Given the description of an element on the screen output the (x, y) to click on. 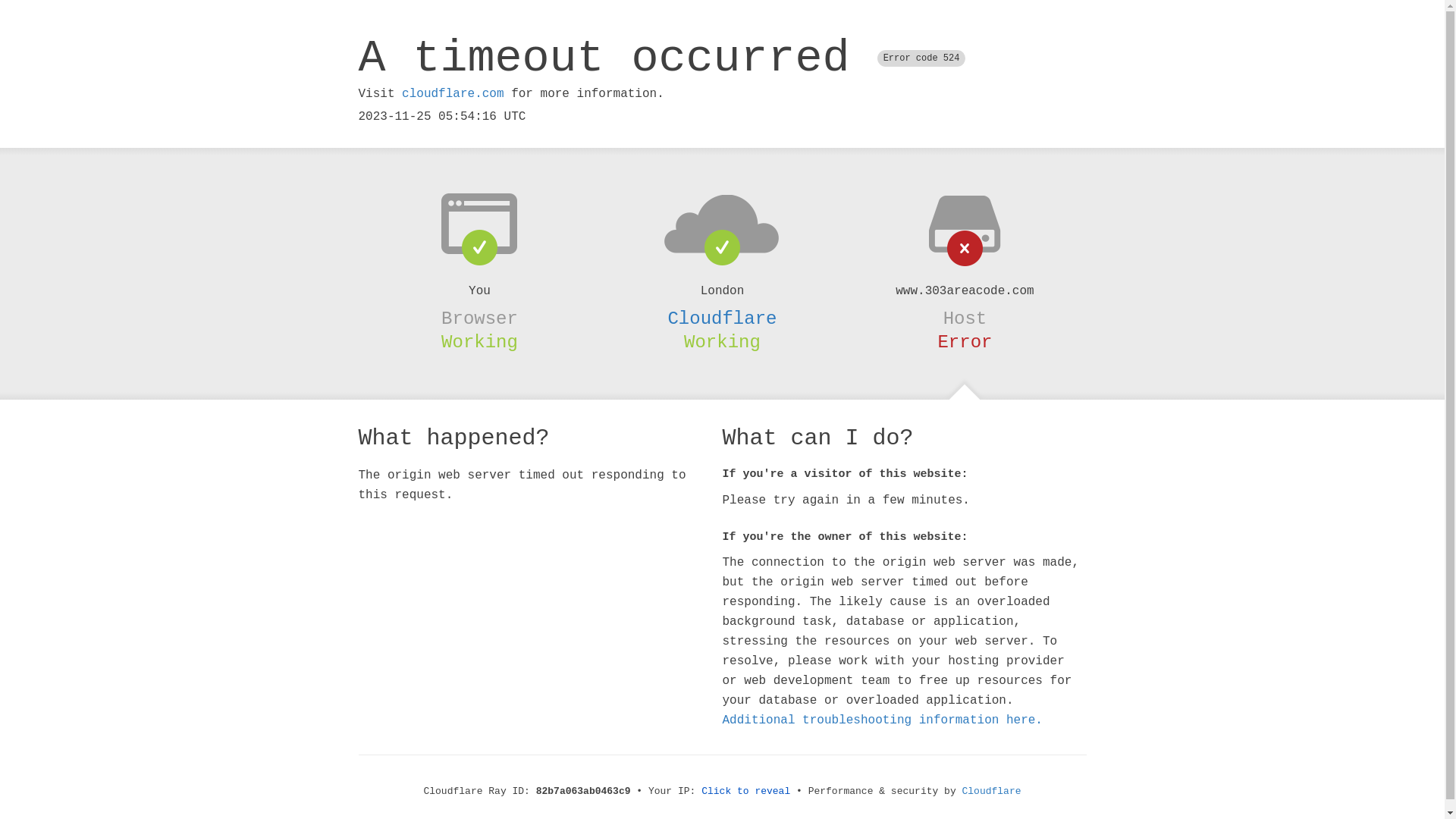
Cloudflare Element type: text (721, 318)
Additional troubleshooting information here. Element type: text (881, 720)
Cloudflare Element type: text (991, 791)
Click to reveal Element type: text (745, 791)
cloudflare.com Element type: text (452, 93)
